Given the description of an element on the screen output the (x, y) to click on. 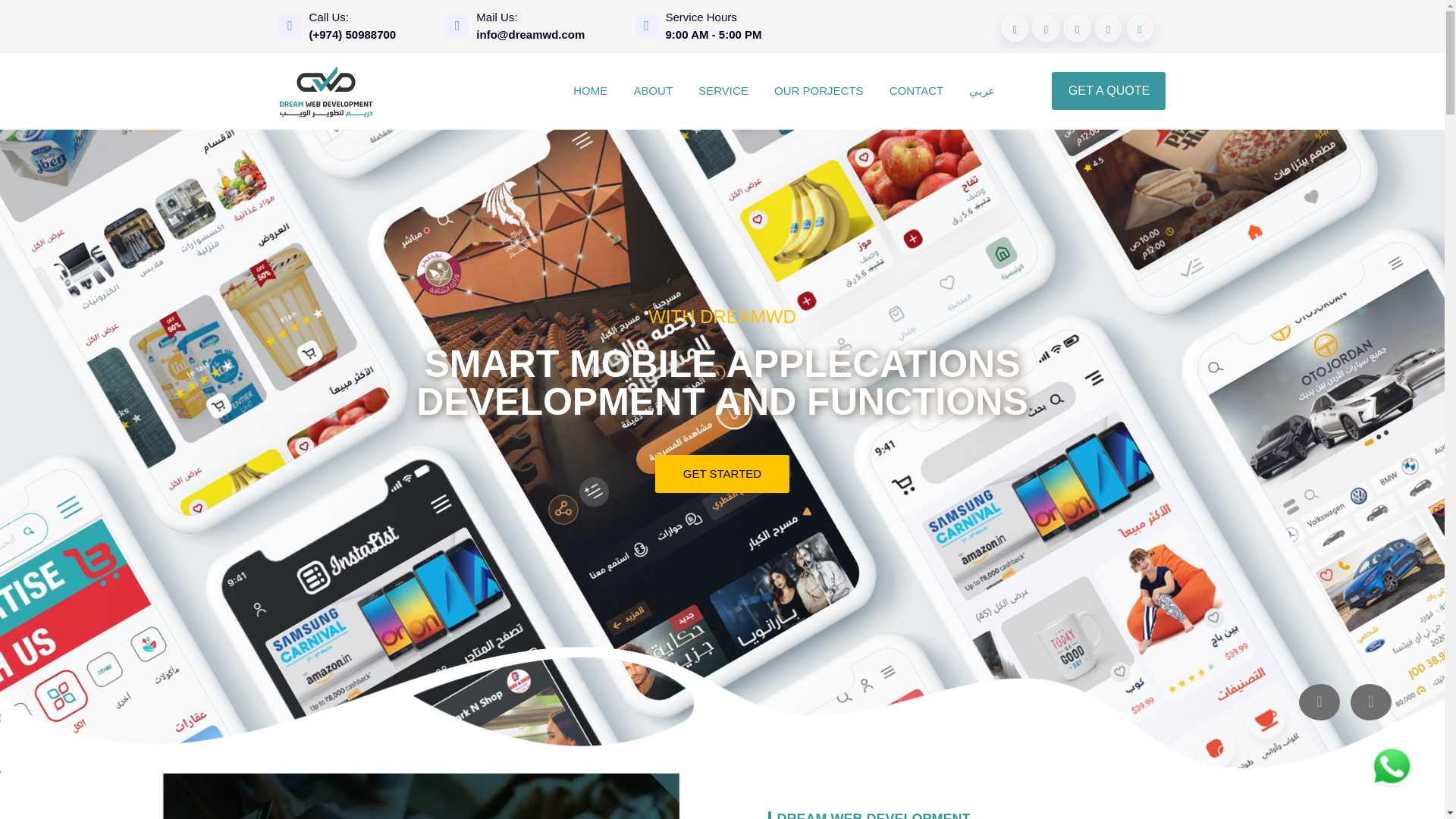
GET A QUATE (722, 474)
GET A QUATE (722, 492)
GET STARTED (722, 474)
OUR PORJECTS (818, 90)
GET A QUOTE (1108, 90)
